Given the description of an element on the screen output the (x, y) to click on. 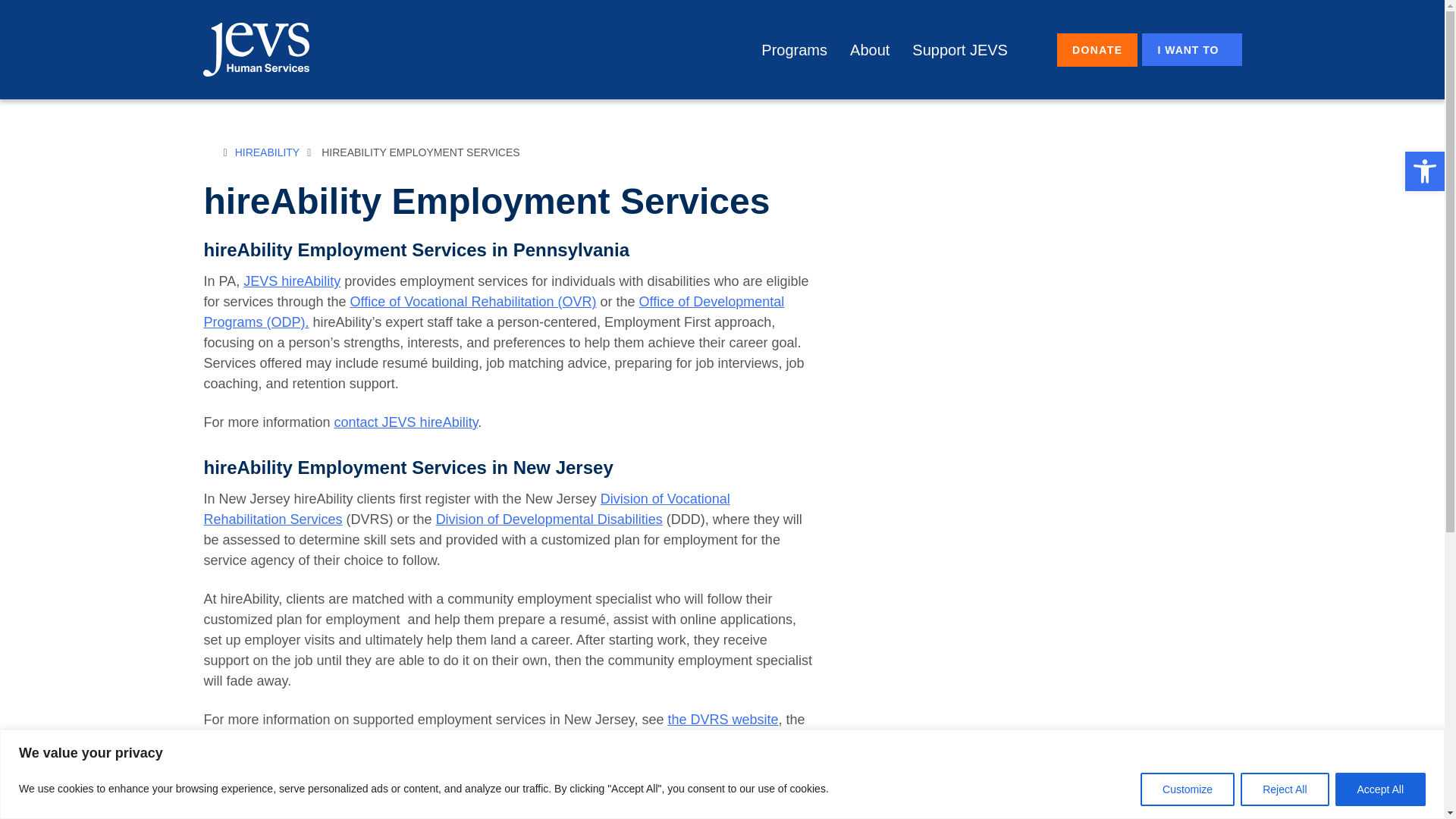
DONATE (1097, 49)
Customize (1187, 788)
Support JEVS (959, 49)
Accept All (1380, 788)
Accessibility Tools (1424, 170)
Programs (794, 49)
About (869, 49)
Reject All (1283, 788)
